Given the description of an element on the screen output the (x, y) to click on. 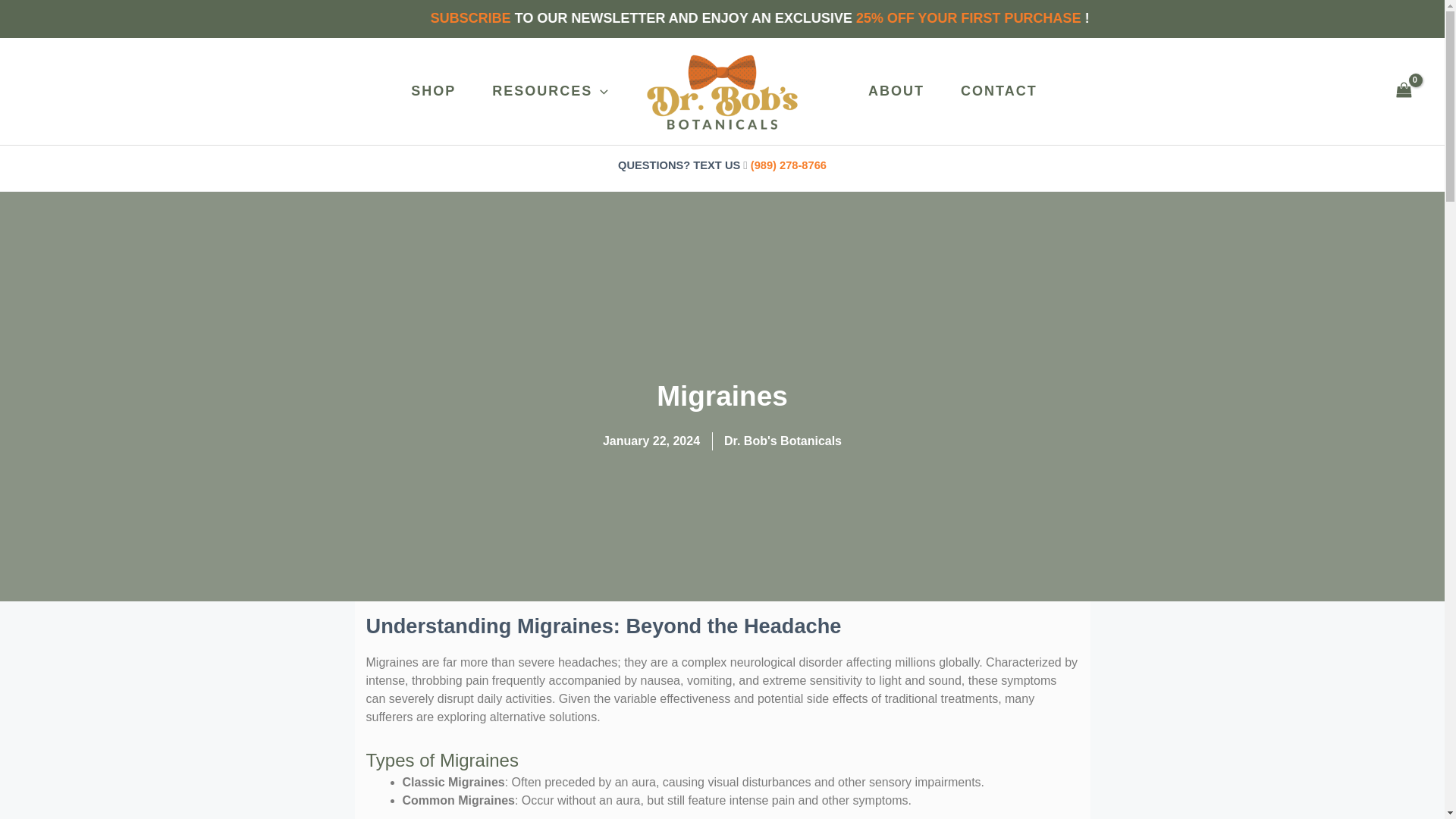
SHOP (428, 90)
CONTACT (994, 90)
ABOUT (891, 90)
RESOURCES (544, 90)
Dr. Bob's Botanicals (782, 441)
January 22, 2024 (651, 441)
